Given the description of an element on the screen output the (x, y) to click on. 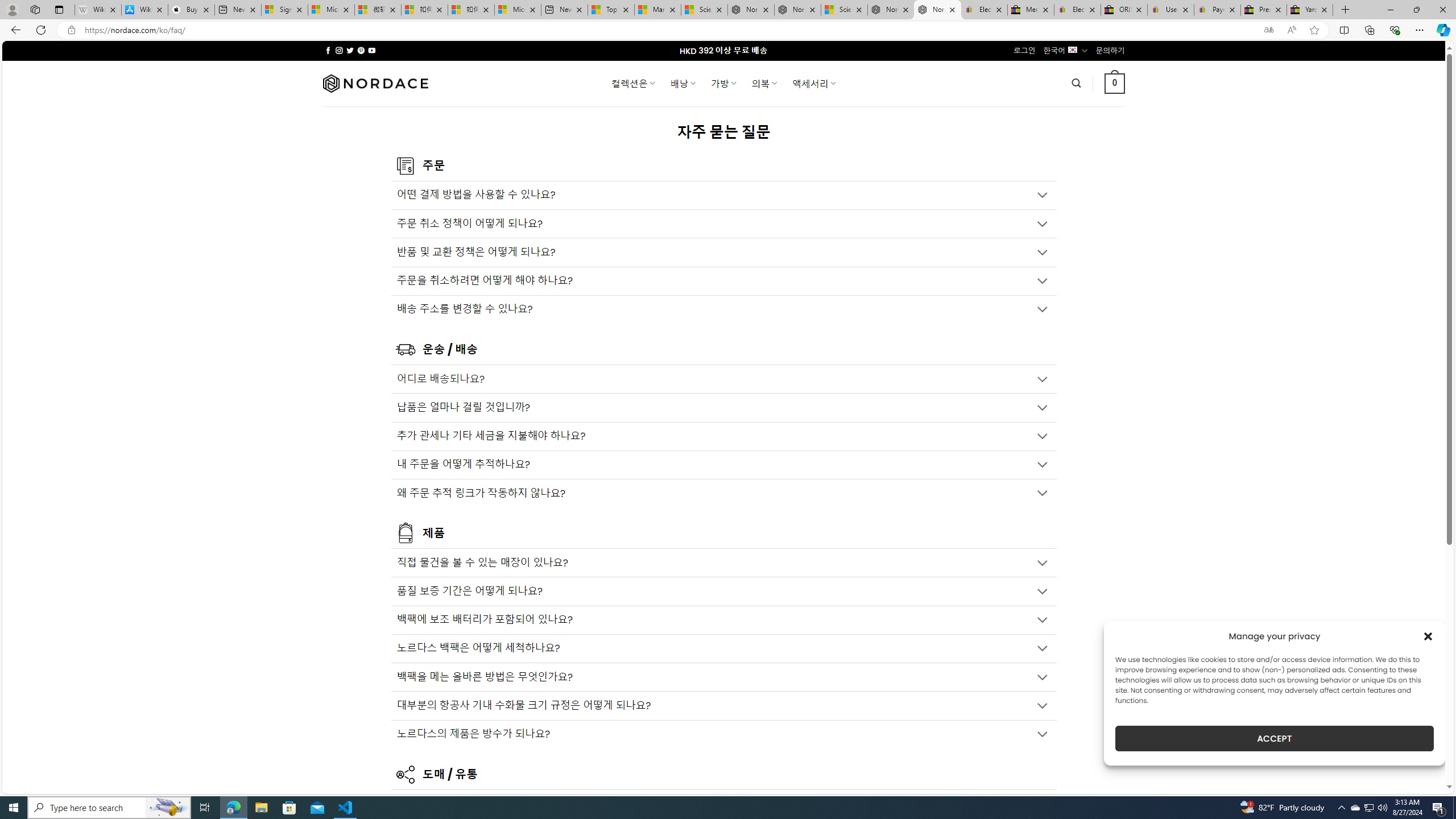
Nordace - FAQ (937, 9)
